Given the description of an element on the screen output the (x, y) to click on. 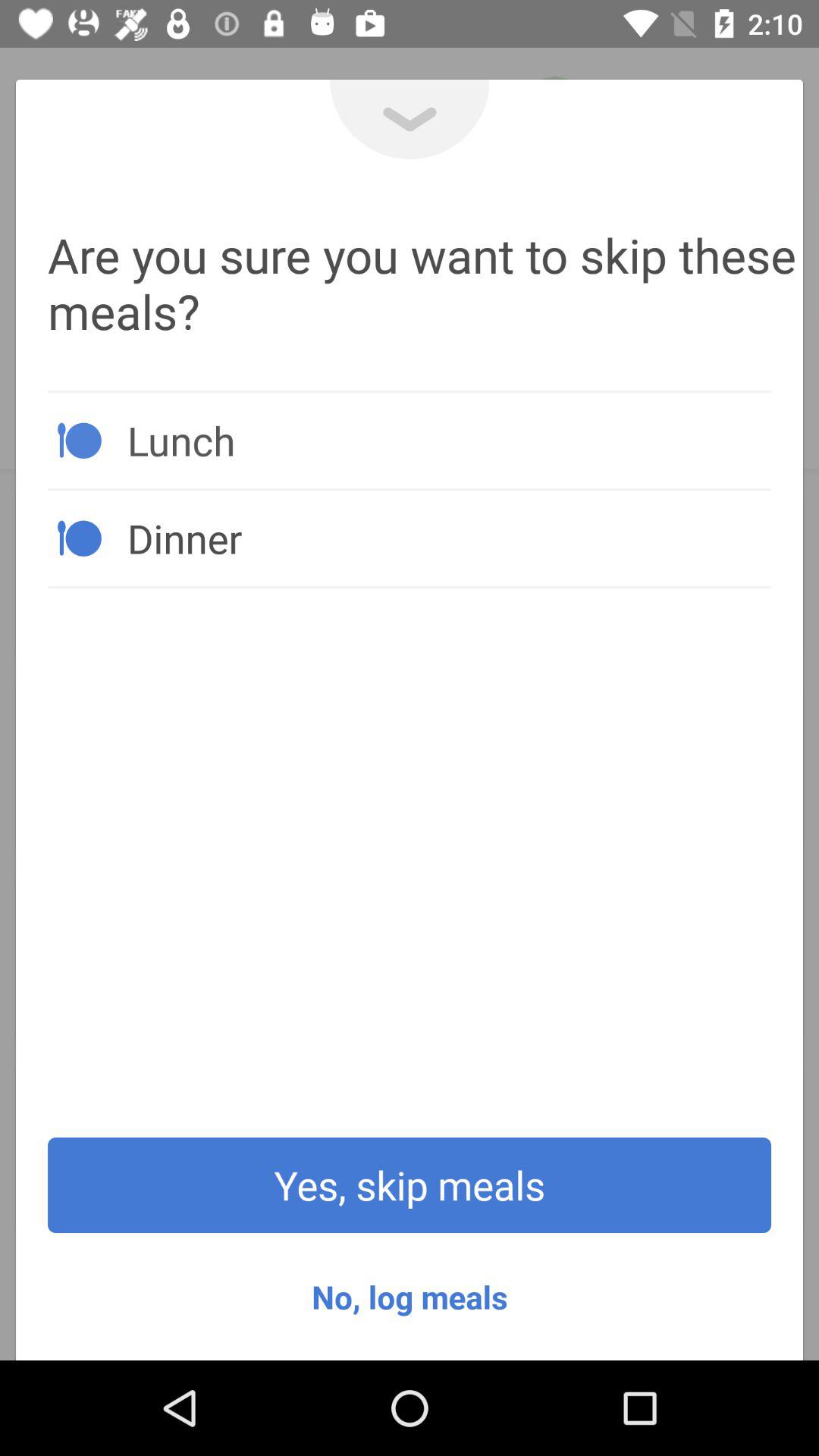
launch icon above no, log meals (409, 1185)
